Given the description of an element on the screen output the (x, y) to click on. 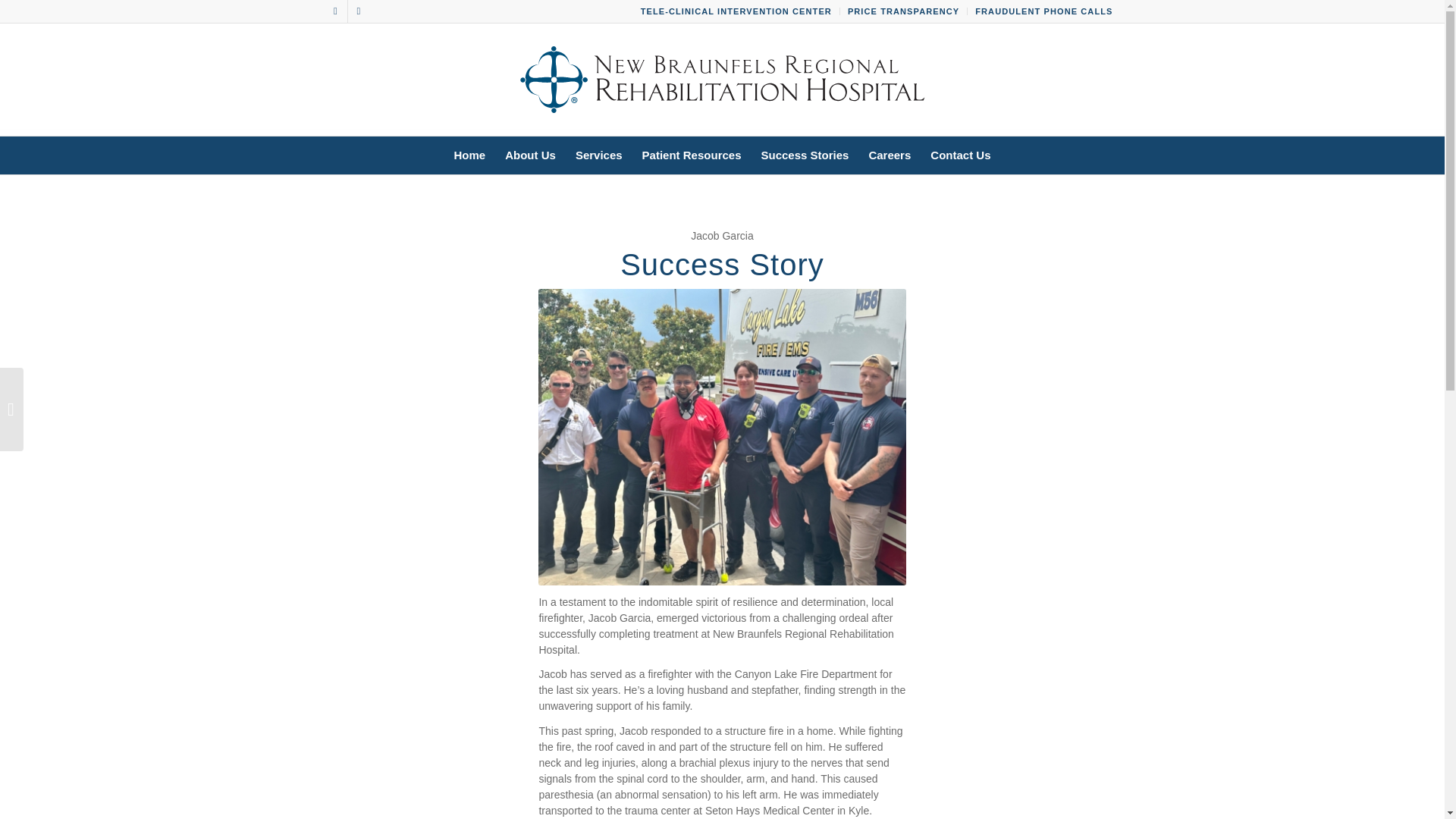
Patient Resources (691, 155)
Facebook (335, 11)
FRAUDULENT PHONE CALLS (1043, 11)
About Us (530, 155)
TELE-CLINICAL INTERVENTION CENTER (735, 11)
Youtube (358, 11)
PRICE TRANSPARENCY (903, 11)
Careers (889, 155)
Services (598, 155)
Success Stories (805, 155)
Home (470, 155)
